Given the description of an element on the screen output the (x, y) to click on. 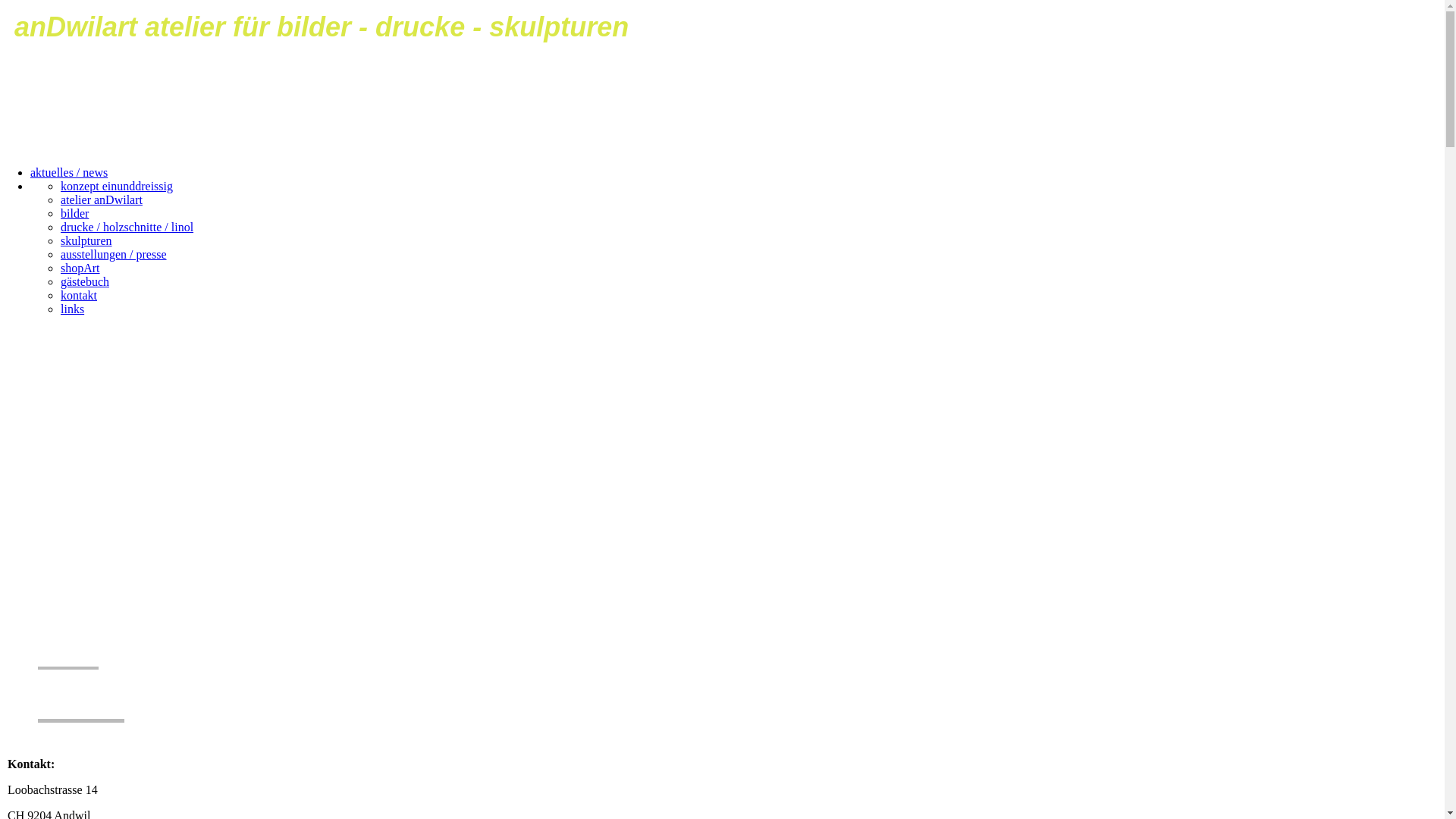
ausstellungen / presse Element type: text (113, 253)
atelier anDwilart Element type: text (101, 199)
konzept einunddreissig Element type: text (116, 185)
bilder Element type: text (74, 213)
shopArt Element type: text (80, 267)
kontakt Element type: text (78, 294)
aktuelles / news Element type: text (68, 172)
links Element type: text (72, 308)
drucke / holzschnitte / linol Element type: text (126, 226)
skulpturen Element type: text (86, 240)
